Given the description of an element on the screen output the (x, y) to click on. 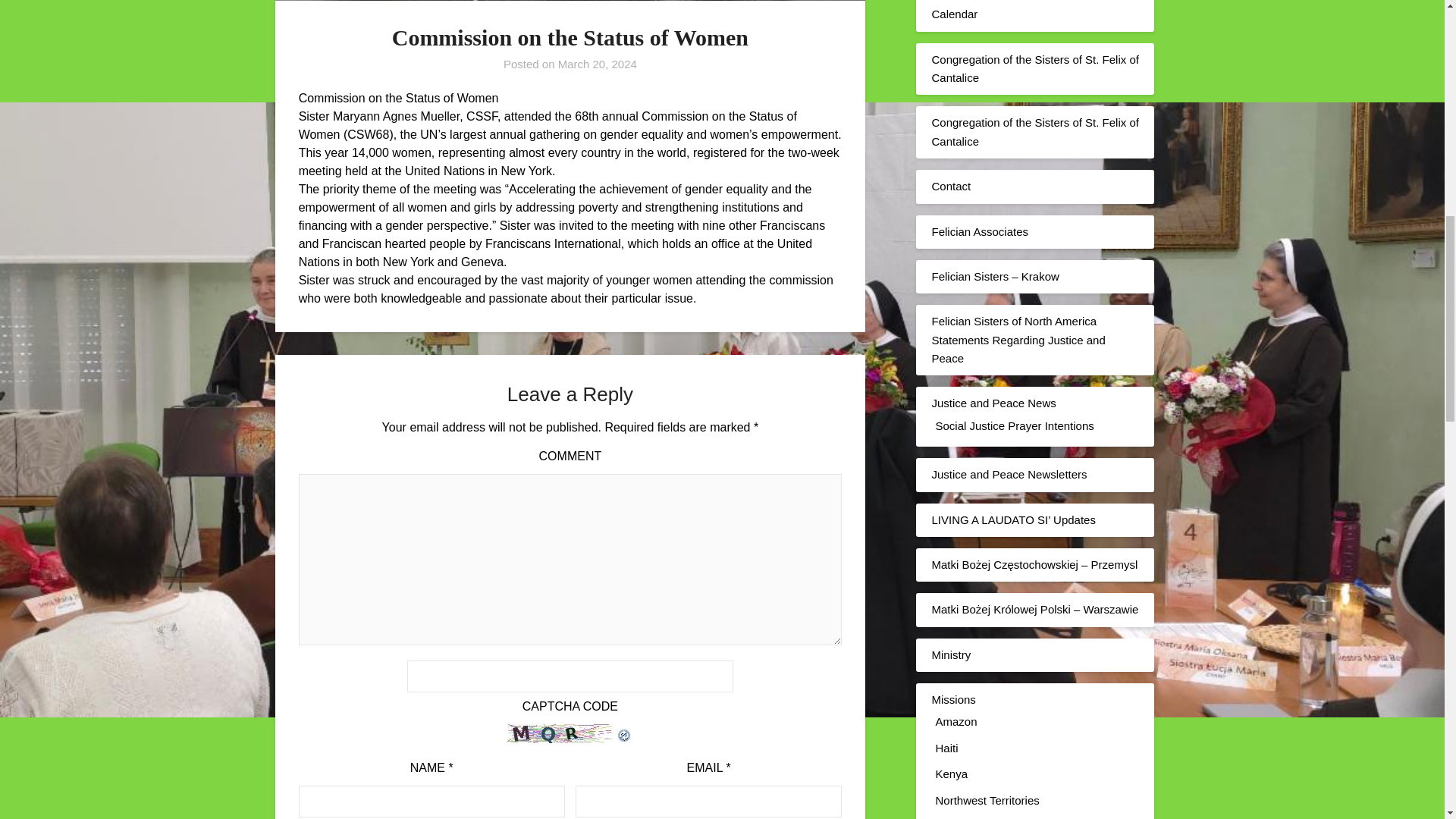
Refresh Image (624, 738)
